Given the description of an element on the screen output the (x, y) to click on. 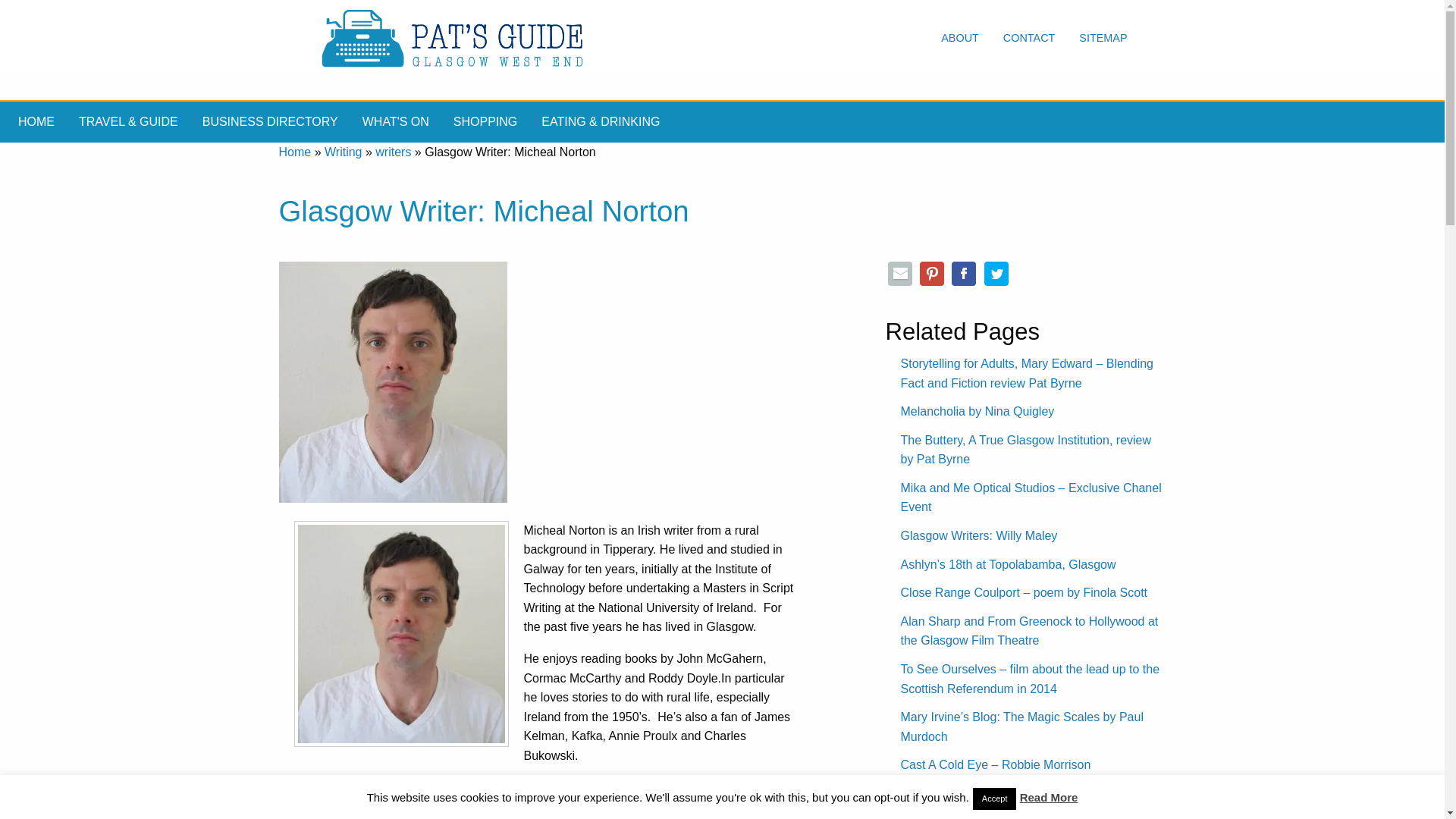
Home (295, 151)
CONTACT (1029, 38)
BUSINESS DIRECTORY (270, 121)
The Buttery, A True Glasgow Institution, review by Pat Byrne (1026, 450)
HOME (35, 121)
SITEMAP (1102, 38)
WHAT'S ON (395, 121)
writers (392, 151)
Melancholia by Nina Quigley (977, 410)
SHOPPING (485, 121)
